Given the description of an element on the screen output the (x, y) to click on. 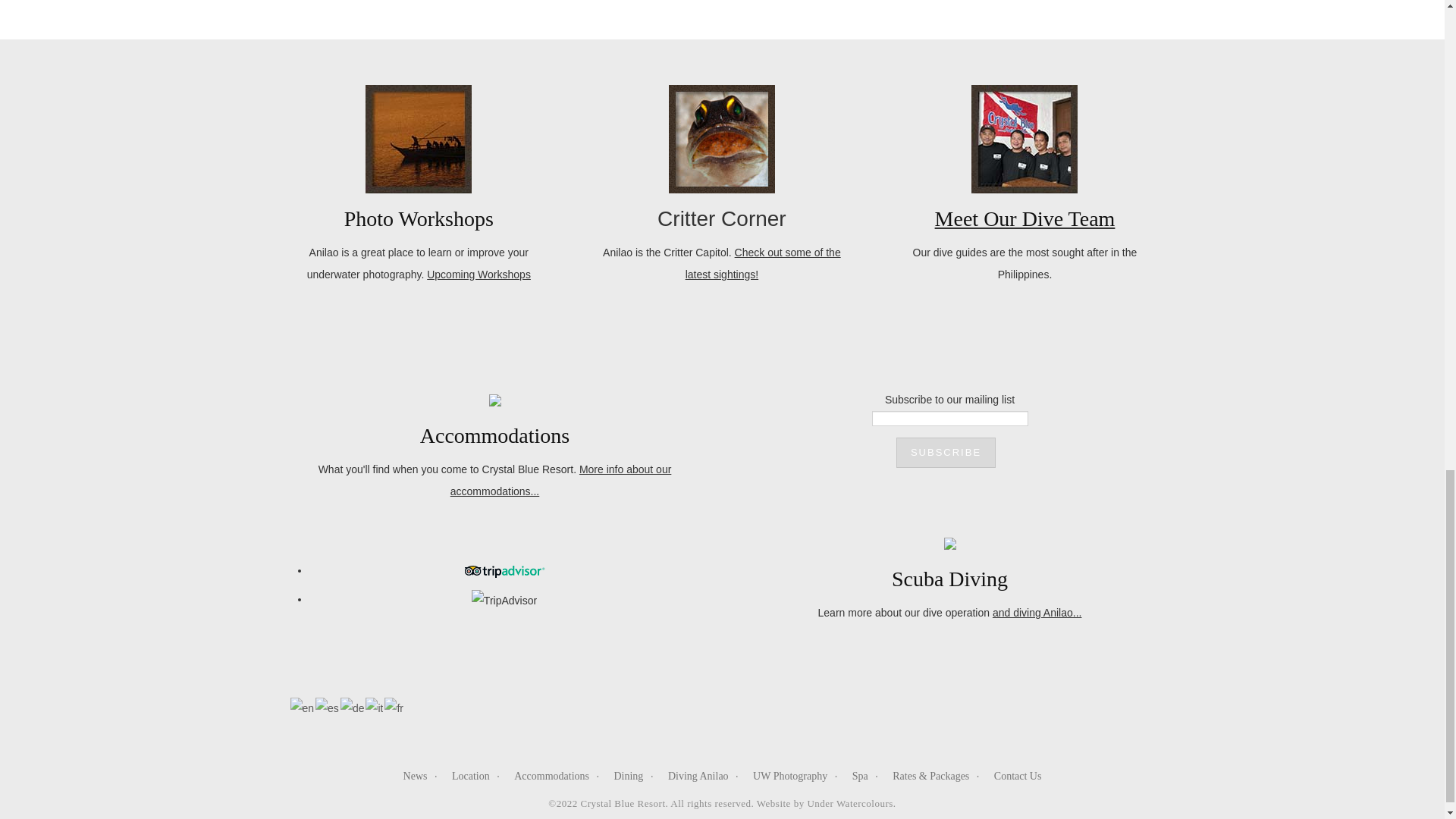
diving (1036, 612)
Scuba Diving Anilao (949, 578)
photo workshops (478, 274)
Photo Workshops (418, 218)
Italiano (374, 707)
English (302, 707)
accommodations (560, 480)
Deutsch (353, 707)
Subscribe (945, 452)
Meet the Dive Team (1024, 218)
